Given the description of an element on the screen output the (x, y) to click on. 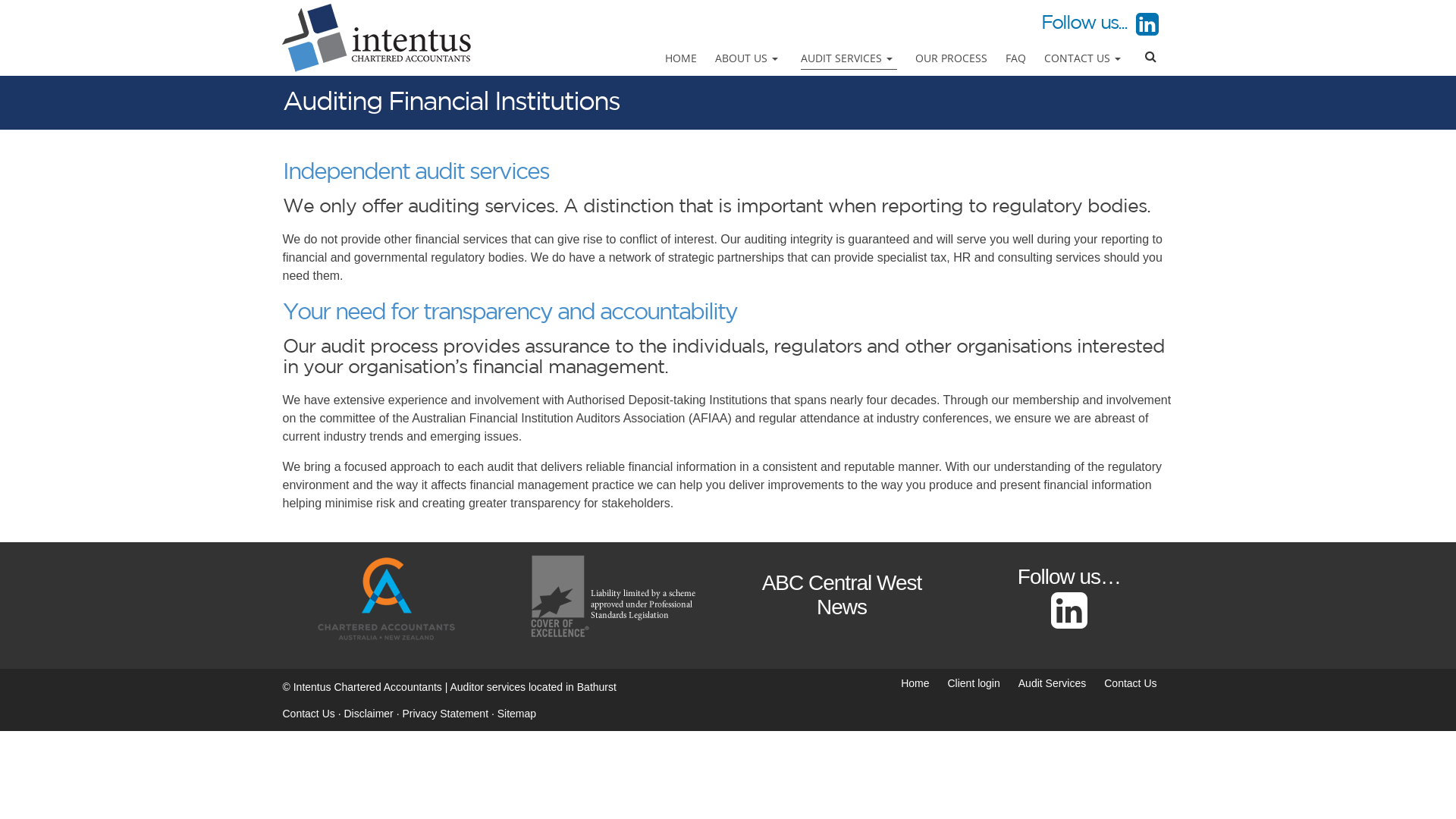
FAQ Element type: text (1015, 58)
Contact Us Element type: text (308, 712)
Disclaimer Element type: text (367, 712)
Sitemap Element type: text (516, 712)
OUR PROCESS Element type: text (951, 58)
Contact Us Element type: text (1130, 682)
ABC Central West News Element type: text (842, 594)
Follow us... Element type: text (1100, 23)
Audit Services Element type: text (1051, 682)
Privacy Statement Element type: text (444, 712)
ABOUT US Element type: text (748, 58)
AUDIT SERVICES Element type: text (848, 58)
Home Element type: text (914, 682)
CONTACT US Element type: text (1084, 58)
Client login Element type: text (973, 682)
HOME Element type: text (680, 58)
